Given the description of an element on the screen output the (x, y) to click on. 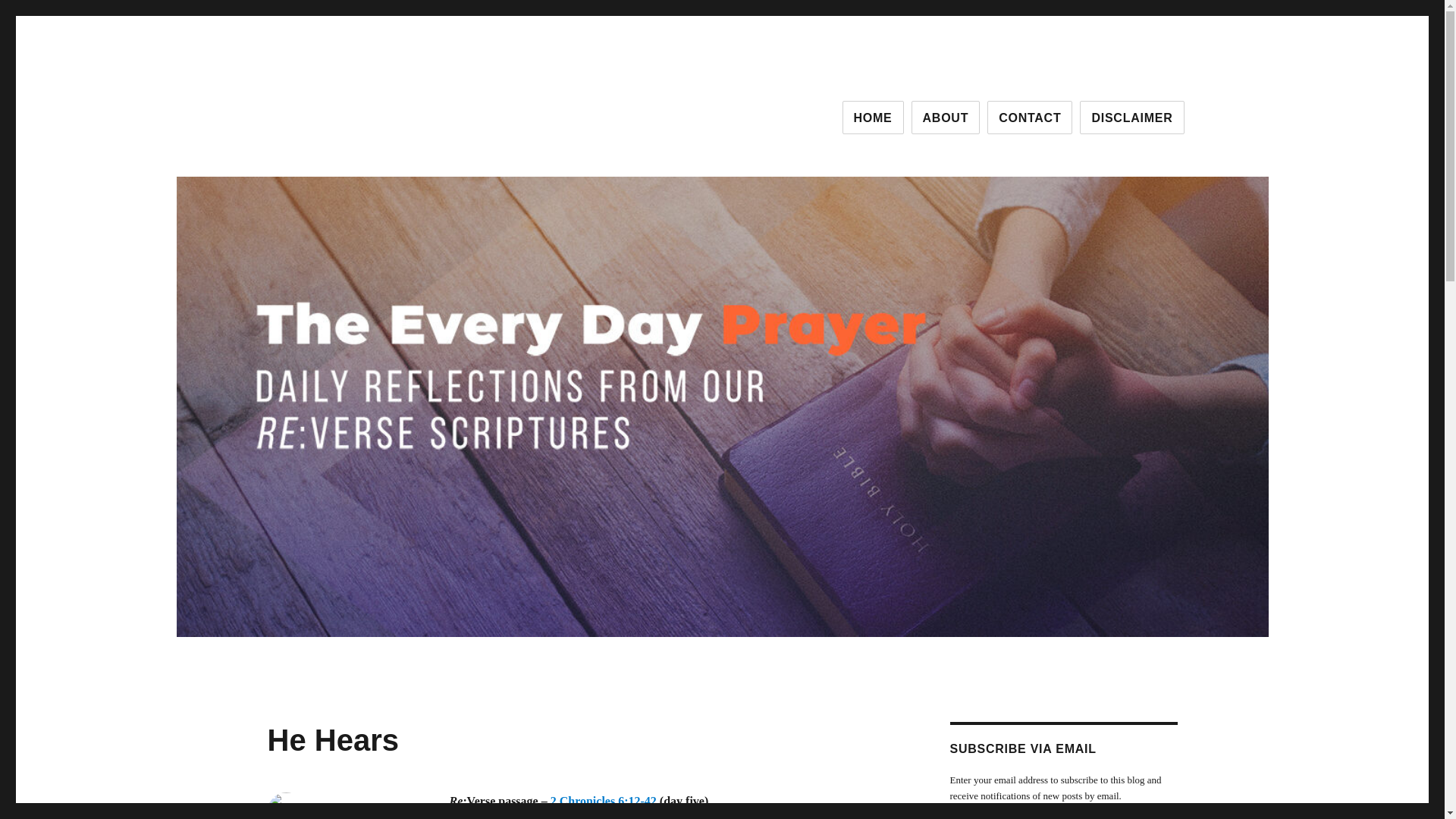
The Everyday Prayer (371, 114)
2 Chronicles 6:12-42 (604, 800)
DISCLAIMER (1131, 117)
CONTACT (1029, 117)
HOME (873, 117)
ABOUT (945, 117)
